Given the description of an element on the screen output the (x, y) to click on. 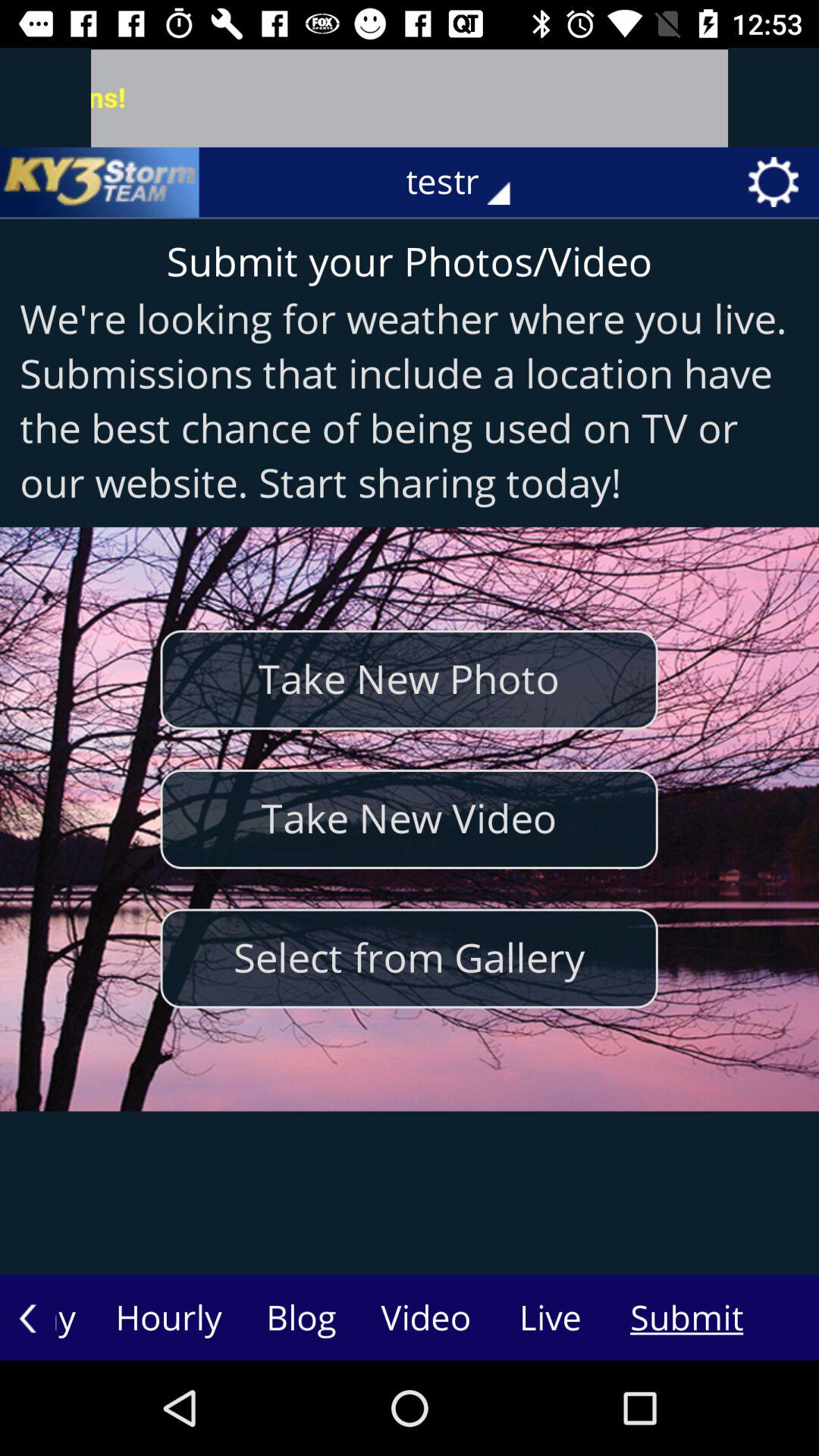
select the testr (468, 182)
